Given the description of an element on the screen output the (x, y) to click on. 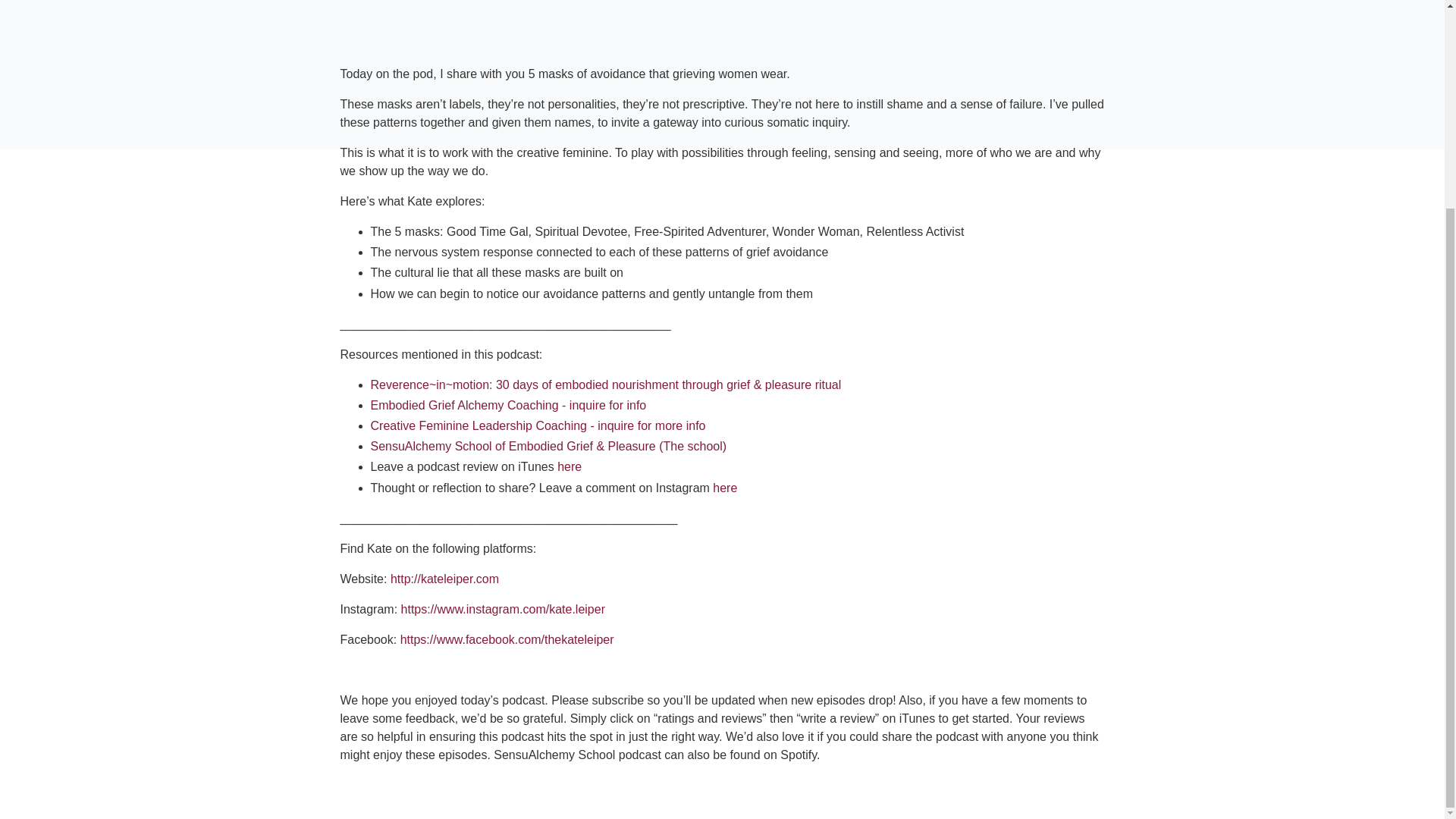
here (724, 486)
Embodied Grief Alchemy Coaching - inquire for info (507, 404)
here (568, 466)
